Given the description of an element on the screen output the (x, y) to click on. 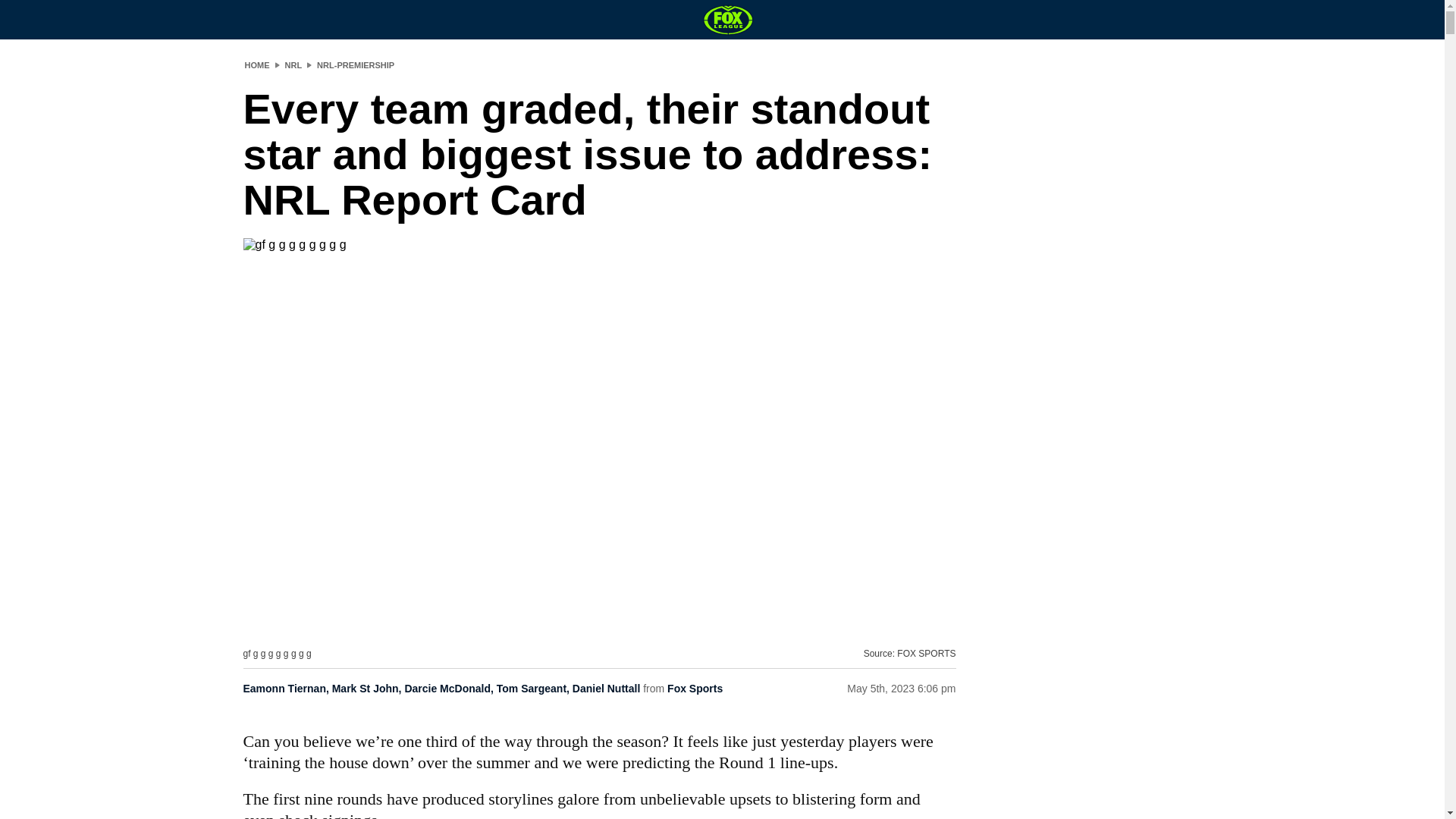
NRL (293, 64)
HOME (256, 64)
NRL-PREMIERSHIP (355, 64)
